Given the description of an element on the screen output the (x, y) to click on. 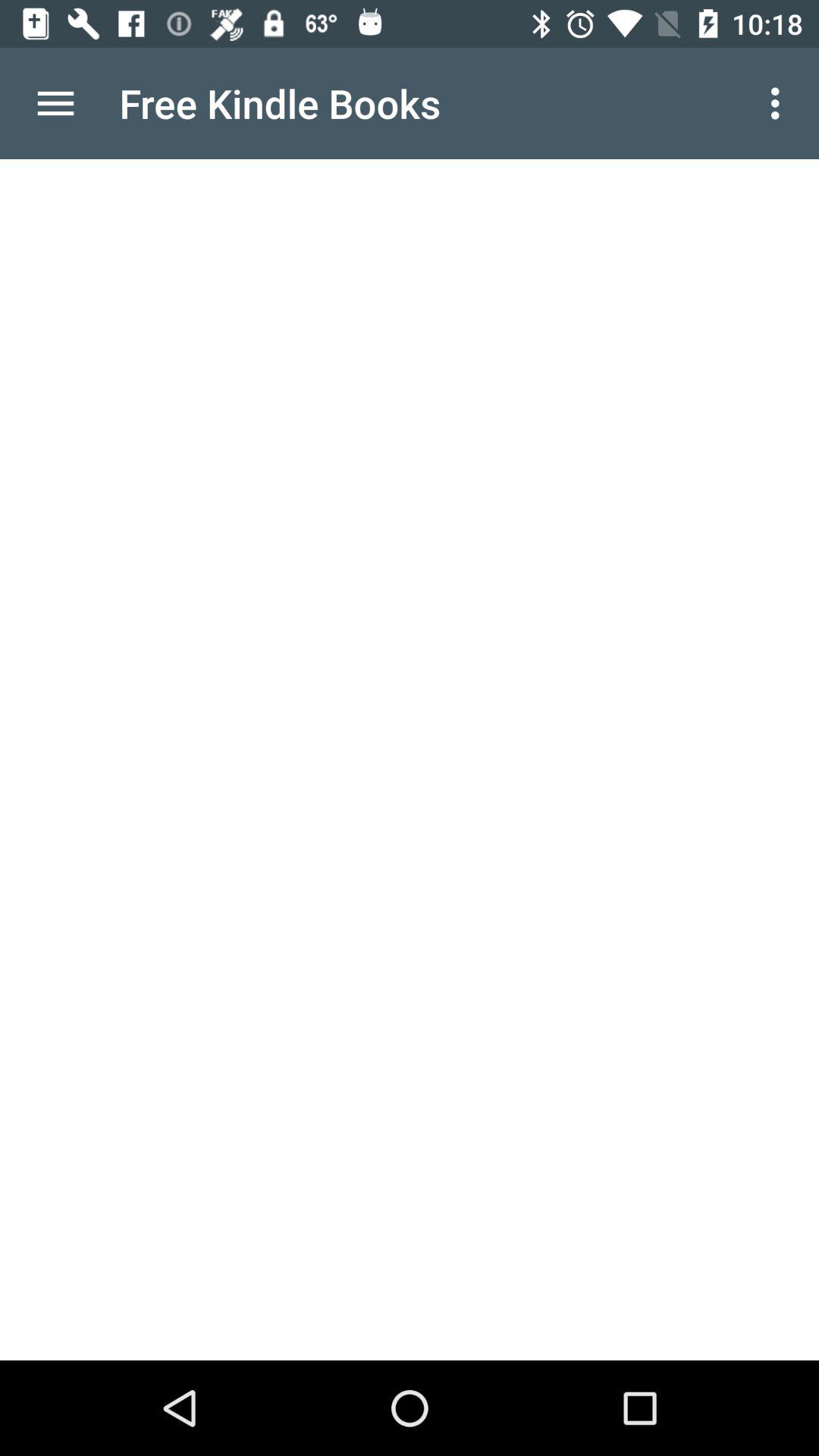
choose the item at the center (409, 759)
